Given the description of an element on the screen output the (x, y) to click on. 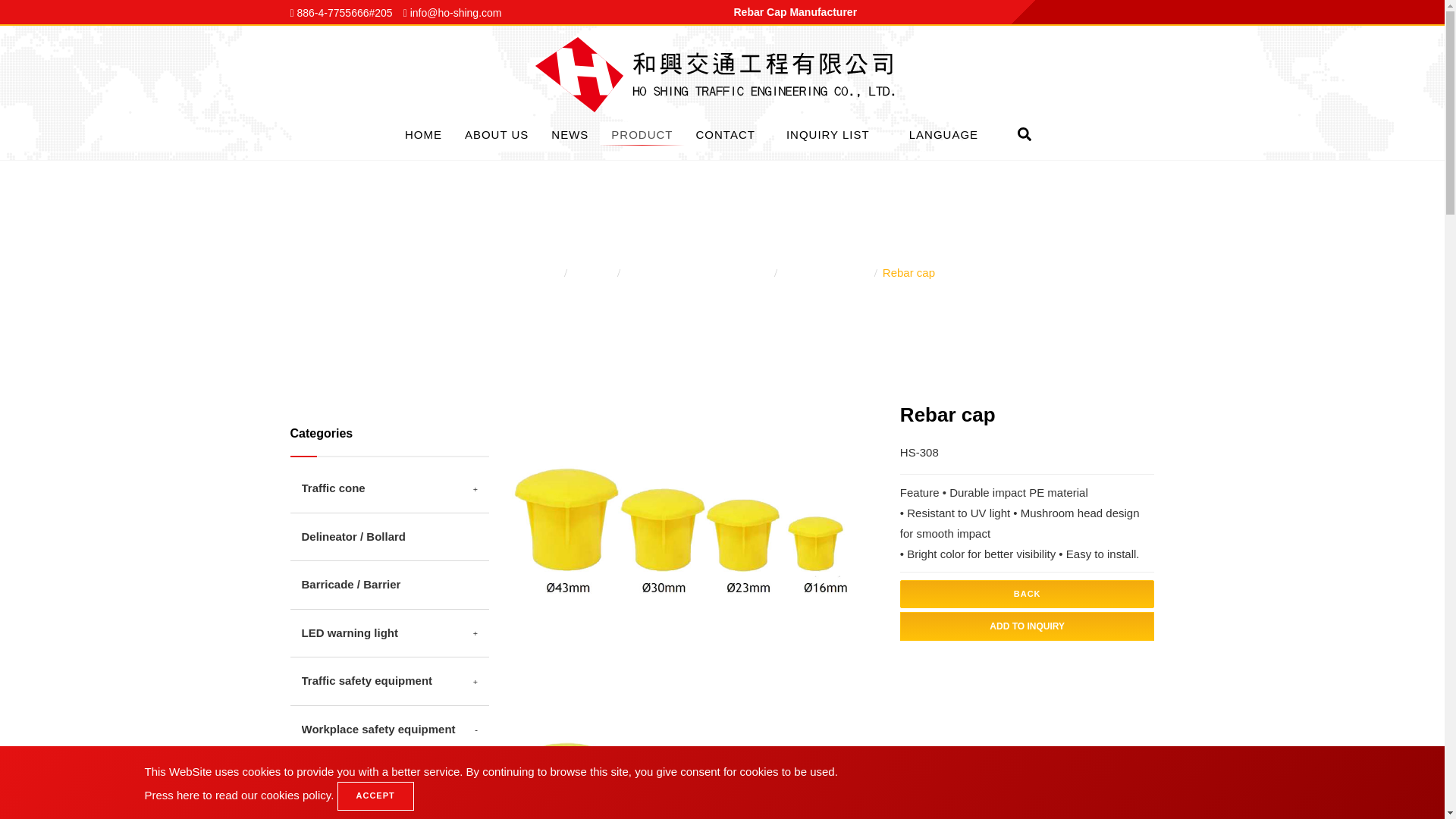
HOME (422, 133)
NEWS (569, 133)
CONTACT (724, 133)
About Us (496, 133)
HO Shing Traffic Engineering Co., Ltd. (721, 73)
ABOUT US (496, 133)
News (569, 133)
PRODUCT (641, 133)
Product (641, 133)
Home (422, 133)
